Given the description of an element on the screen output the (x, y) to click on. 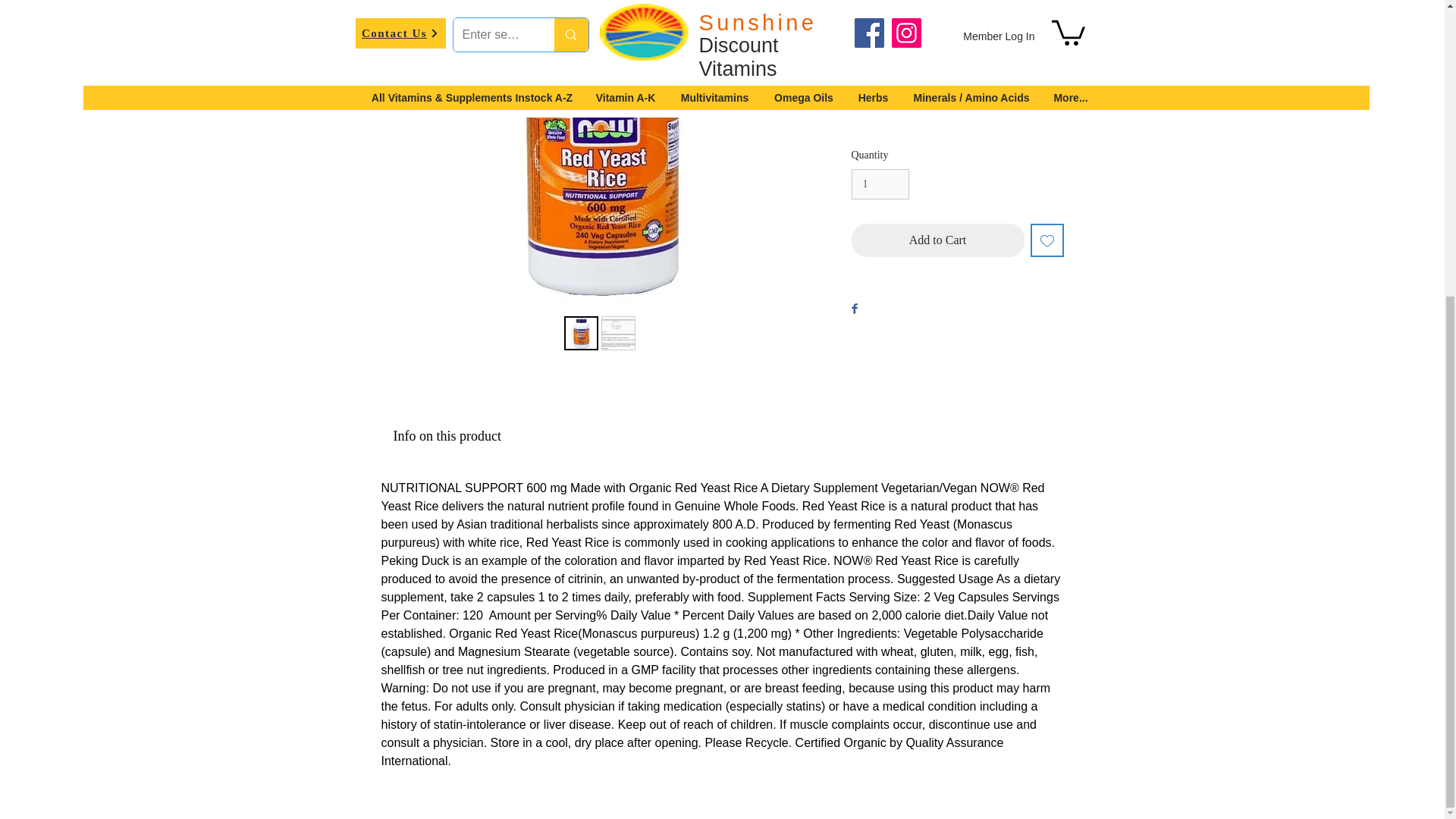
Add to Cart (936, 240)
1 (879, 183)
Use right and left arrows to navigate between tabs (446, 436)
